Given the description of an element on the screen output the (x, y) to click on. 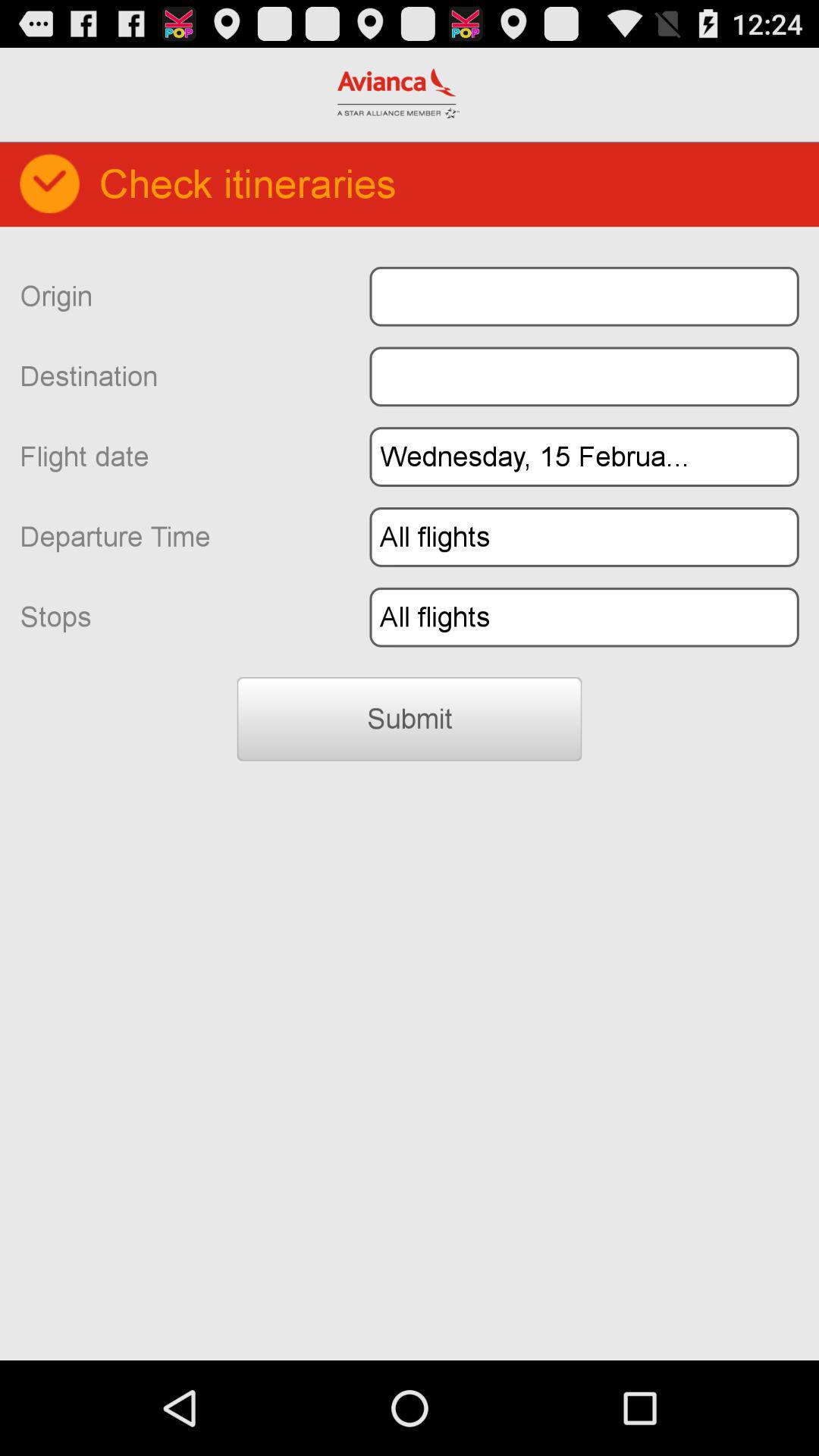
origin text box (584, 296)
